Given the description of an element on the screen output the (x, y) to click on. 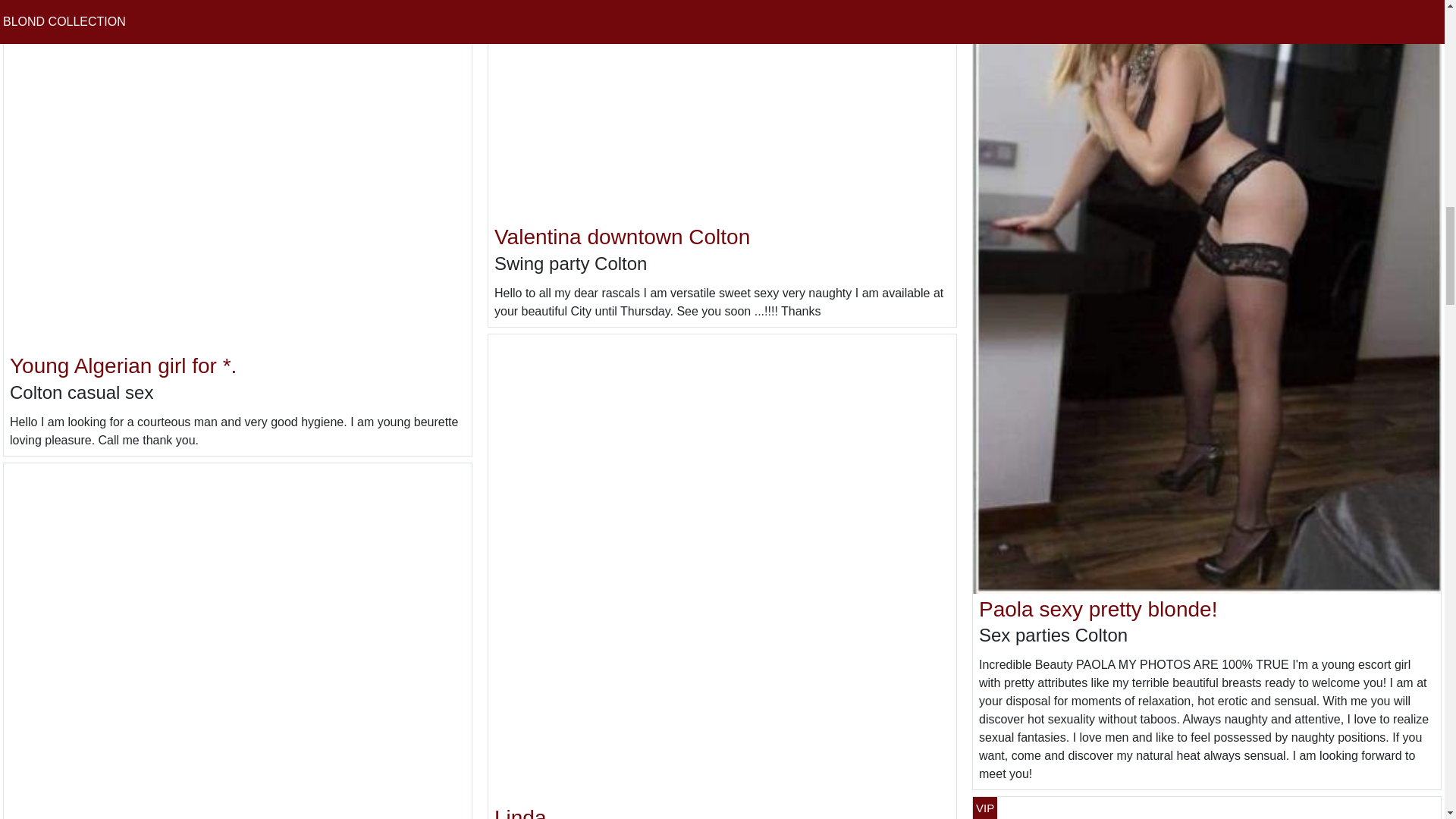
Valentina downtown Colton (622, 236)
Linda (521, 812)
